Given the description of an element on the screen output the (x, y) to click on. 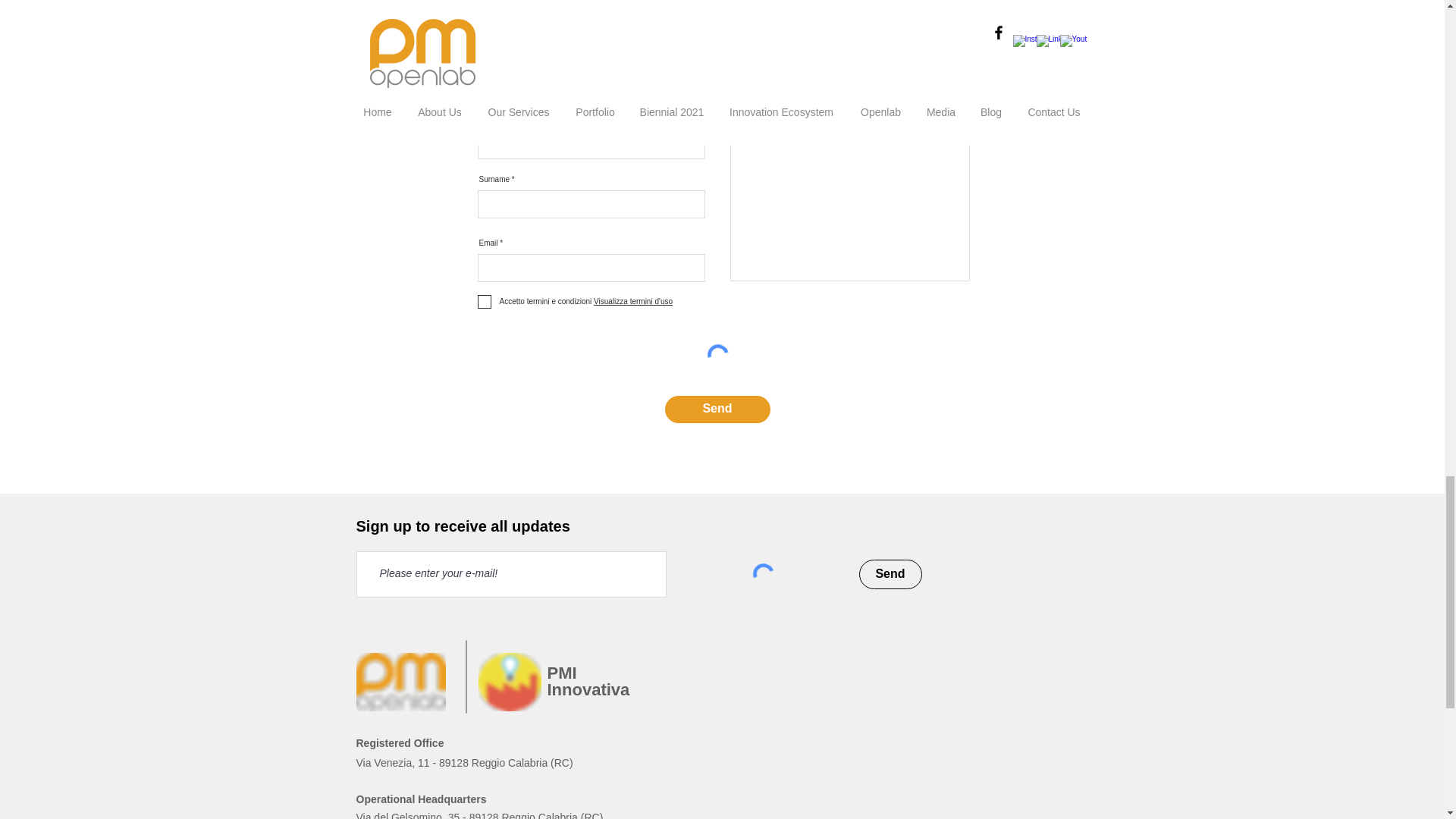
Visualizza termini d'uso (631, 301)
Logo PMopenlab (400, 681)
logo pmi innovative (508, 681)
Send (890, 573)
Send (716, 409)
